Given the description of an element on the screen output the (x, y) to click on. 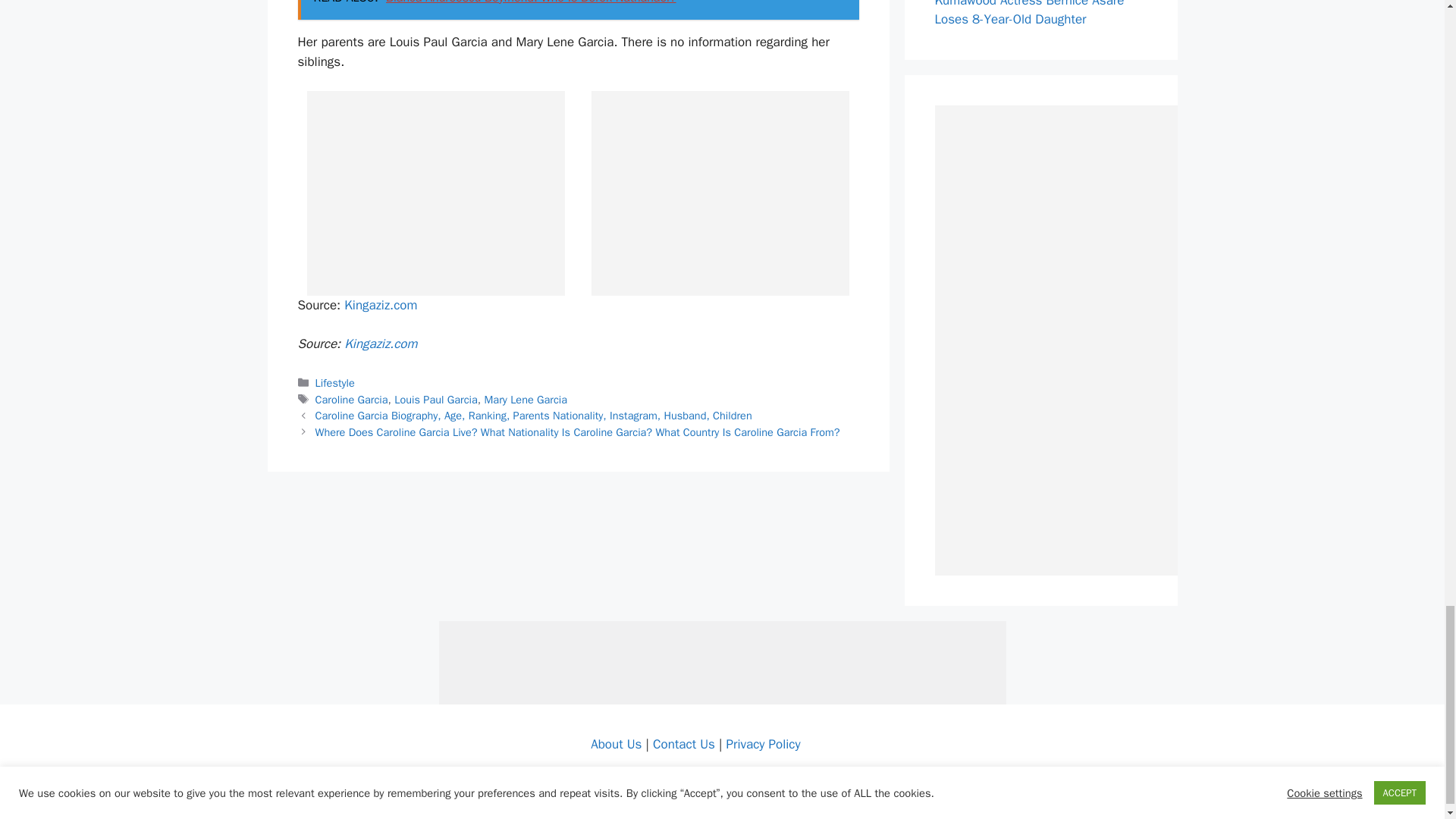
Kingaziz.com (379, 343)
Mary Lene Garcia (525, 399)
Lifestyle (335, 382)
Caroline Garcia (351, 399)
Kingaziz.com (379, 304)
Louis Paul Garcia (435, 399)
